Given the description of an element on the screen output the (x, y) to click on. 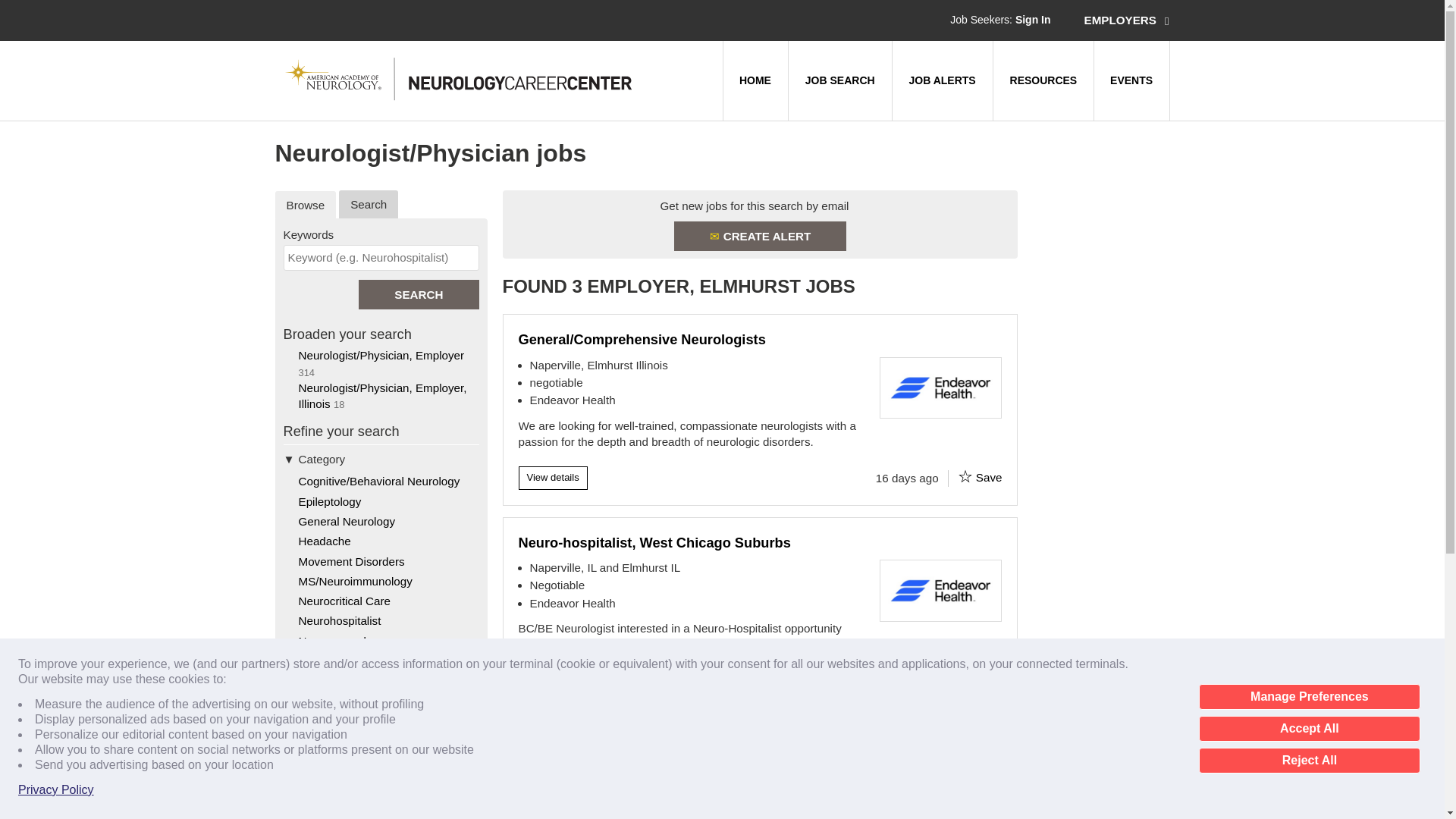
Job Seekers: Sign In (999, 20)
Epileptology (329, 501)
Browse (305, 204)
Neurology Career Center (460, 78)
EMPLOYERS (1126, 19)
JOB SEARCH (840, 80)
Search (418, 294)
Role (381, 718)
Manage Preferences (1309, 696)
Accept All (1309, 728)
Movement Disorders (351, 561)
EVENTS (1131, 80)
Neurohospitalist (339, 620)
JOB ALERTS (941, 80)
RESOURCES (1043, 80)
